Given the description of an element on the screen output the (x, y) to click on. 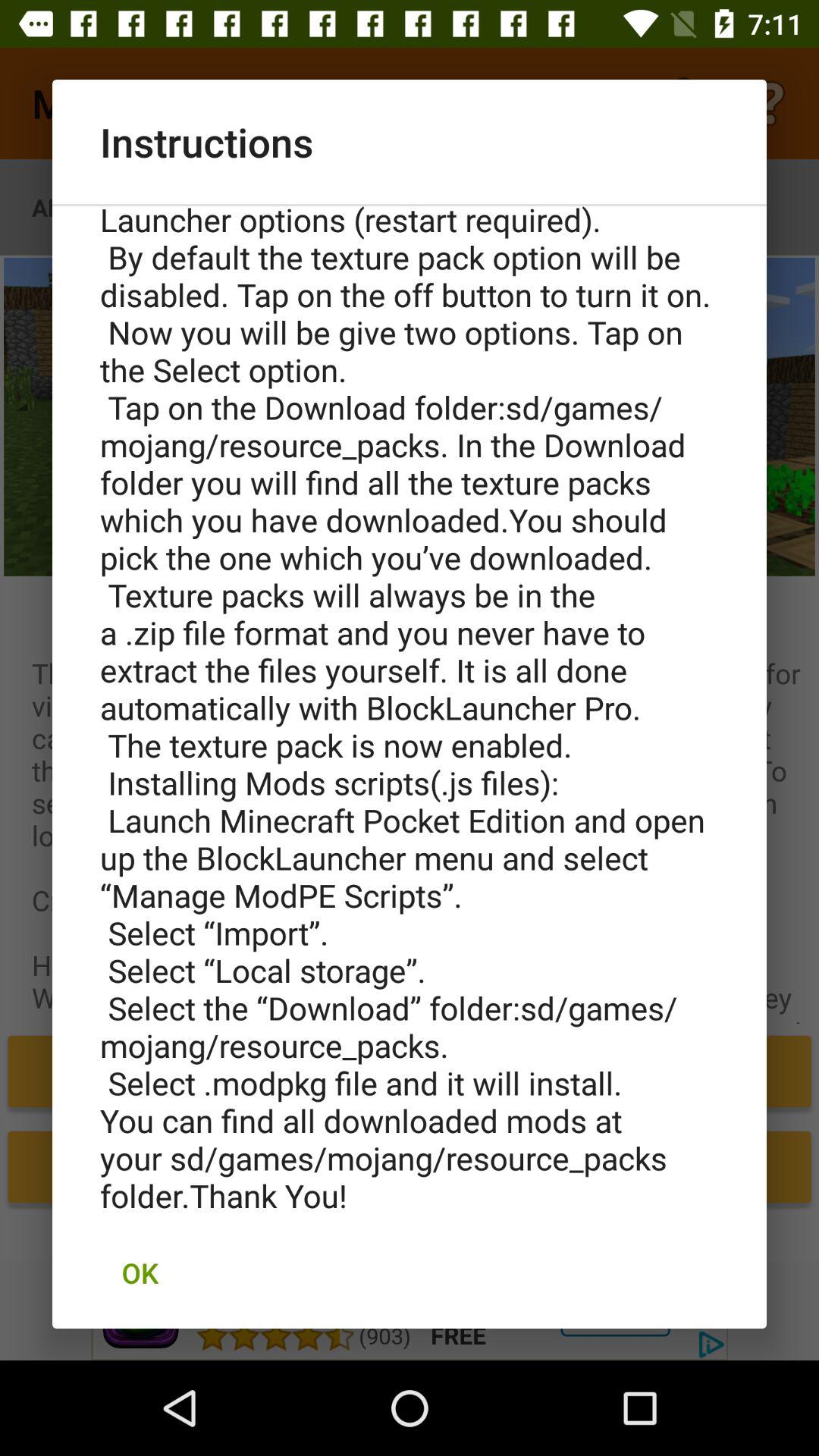
turn off the item below the installing texture packs icon (139, 1272)
